Given the description of an element on the screen output the (x, y) to click on. 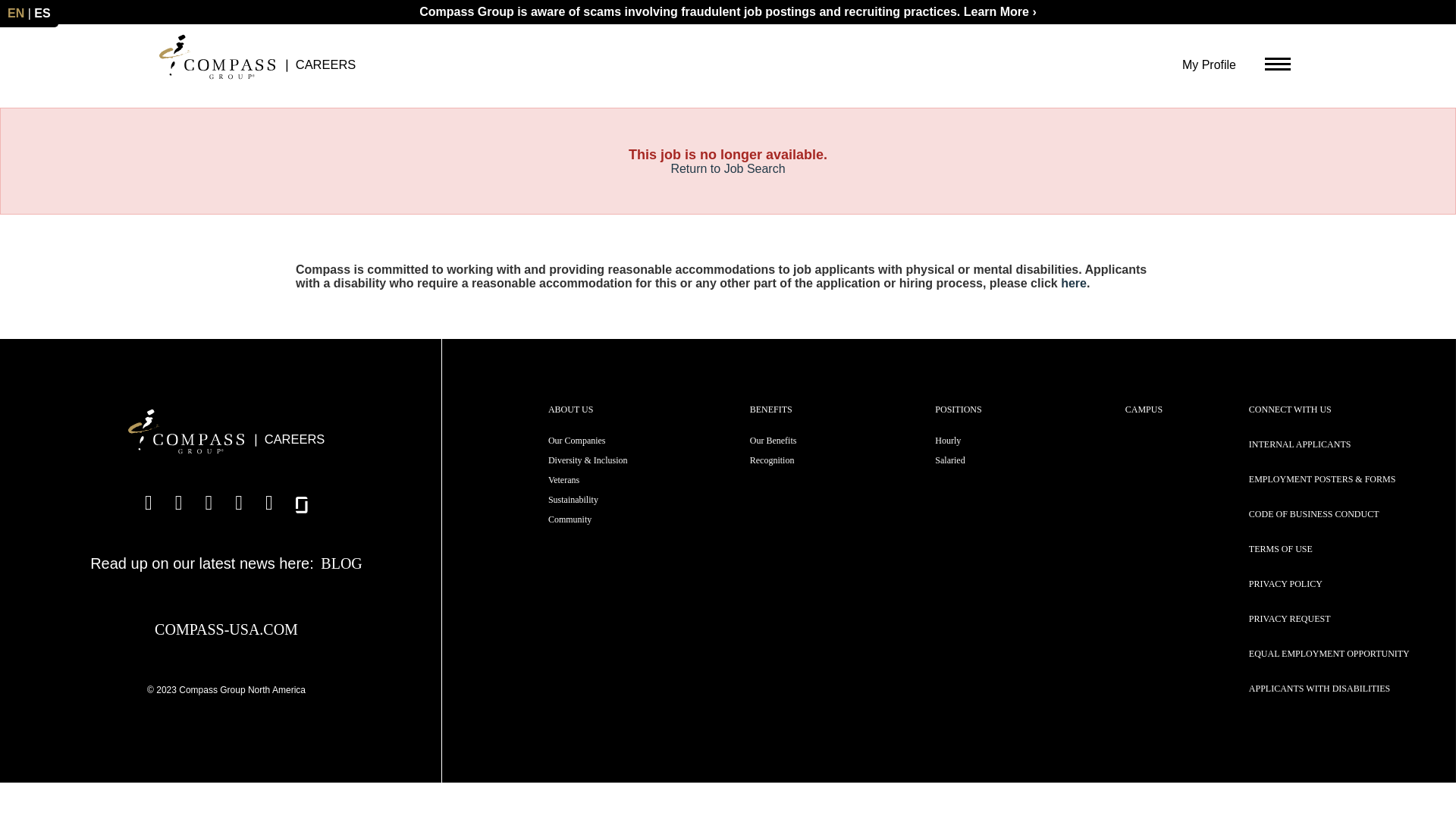
ABOUT US (570, 409)
CONNECT WITH US (1290, 409)
CODE OF BUSINESS CONDUCT (1313, 513)
PRIVACY POLICY (1285, 583)
EQUAL EMPLOYMENT OPPORTUNITY (1329, 653)
Veterans (563, 480)
Hourly (947, 439)
COMPASS-USA.COM (226, 629)
ES (41, 12)
Our Benefits (772, 439)
